Given the description of an element on the screen output the (x, y) to click on. 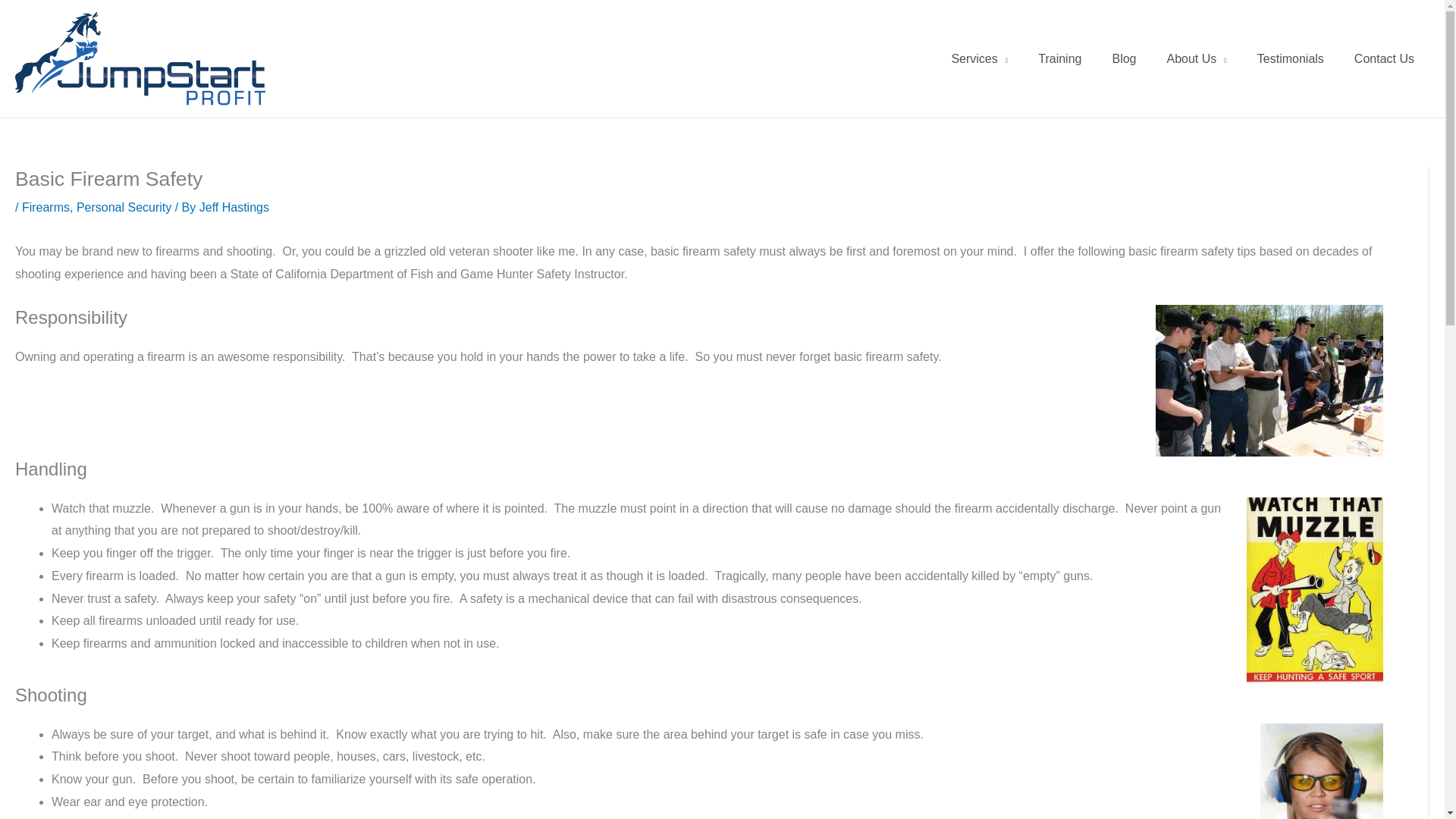
Testimonials (1290, 59)
Services (979, 59)
About Us (1196, 59)
Personal Security (124, 206)
View all posts by Jeff Hastings (234, 206)
Training (1059, 59)
Firearms (45, 206)
Jeff Hastings (234, 206)
Blog (1123, 59)
Contact Us (1384, 59)
